Given the description of an element on the screen output the (x, y) to click on. 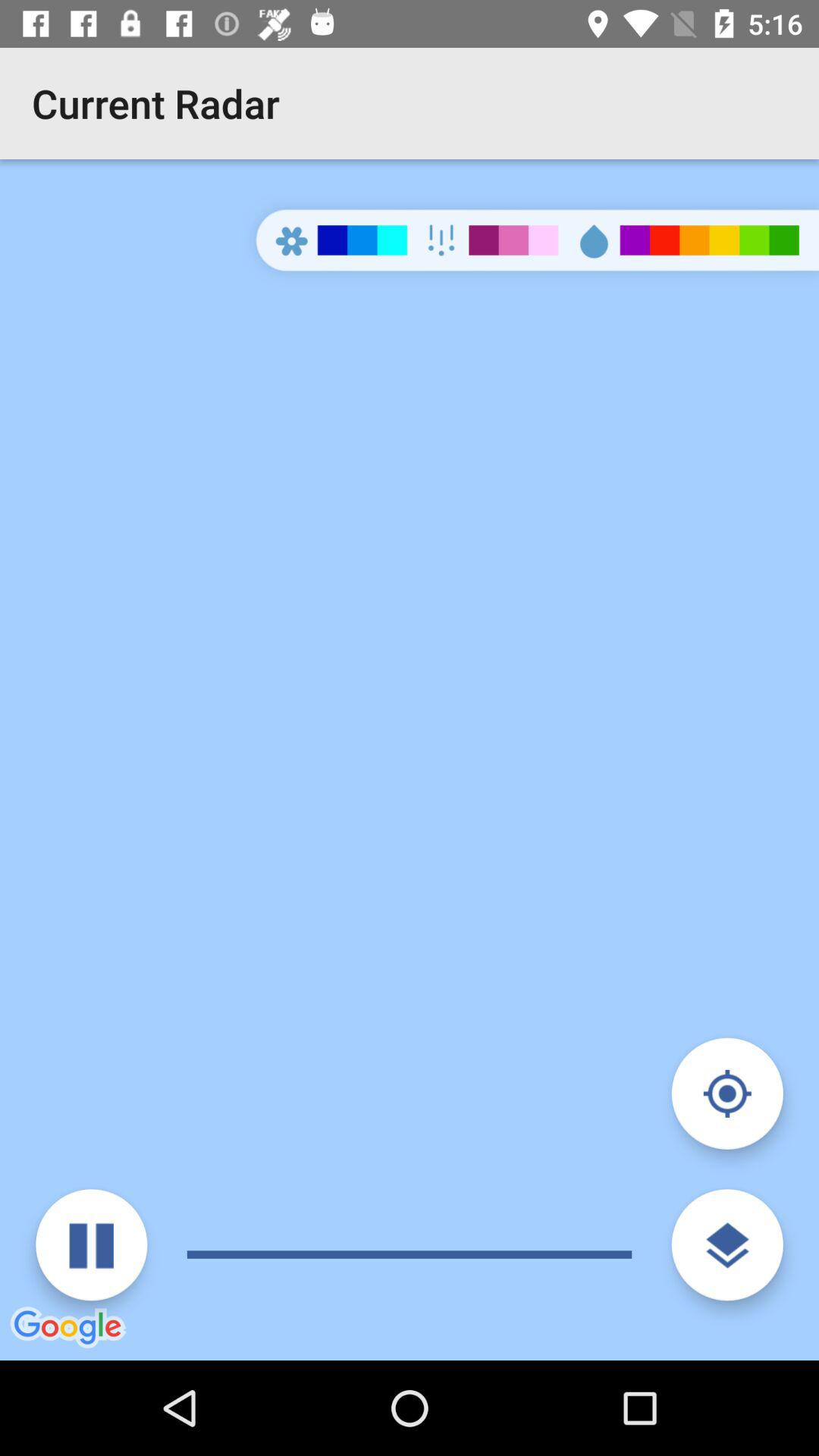
pause audio (91, 1244)
